Given the description of an element on the screen output the (x, y) to click on. 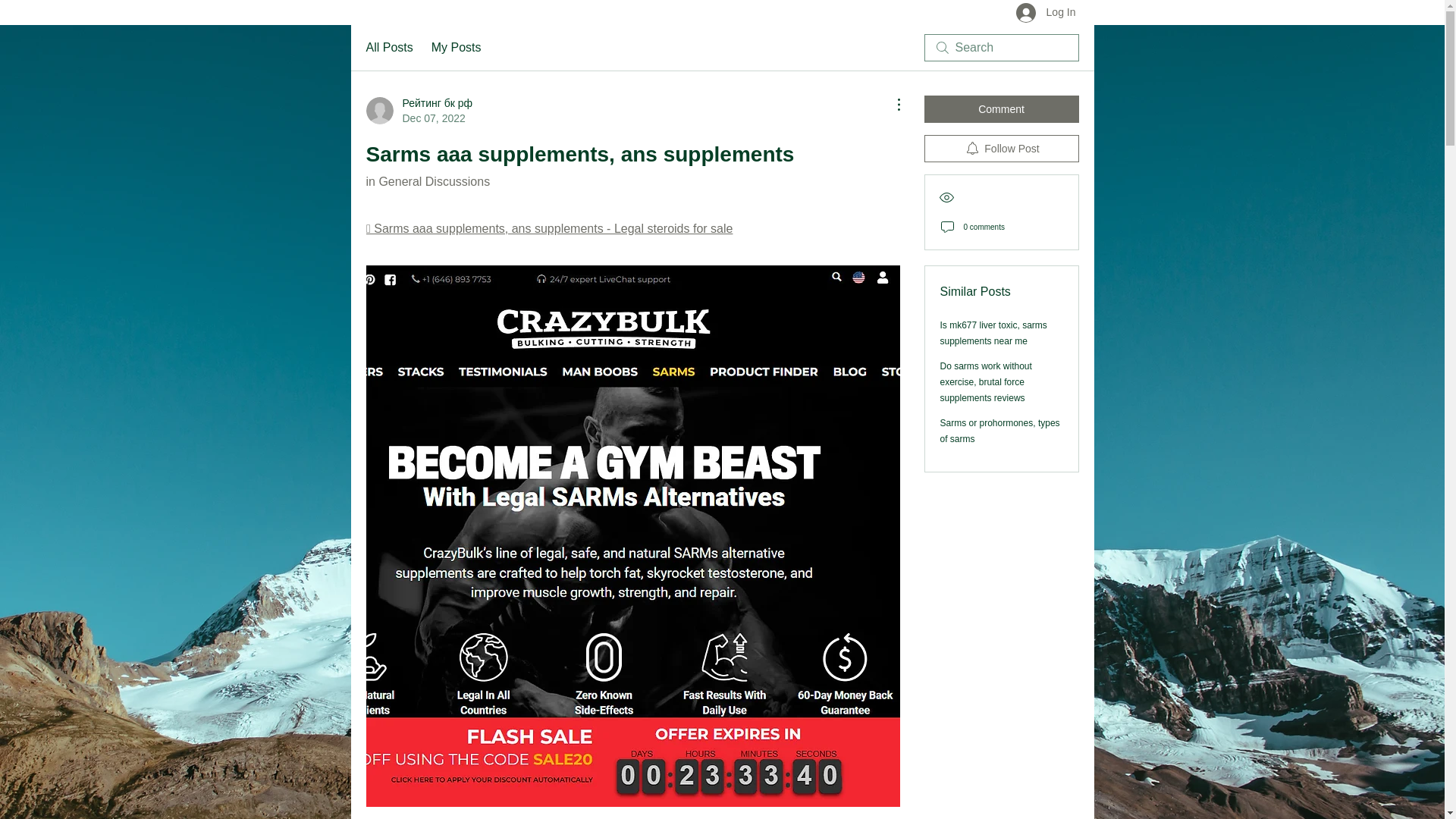
Follow Post (1000, 148)
Sarms or prohormones, types of sarms (999, 430)
in General Discussions (427, 181)
My Posts (455, 47)
Log In (1046, 13)
All Posts (388, 47)
Comment (1000, 108)
Is mk677 liver toxic, sarms supplements near me (993, 333)
